Given the description of an element on the screen output the (x, y) to click on. 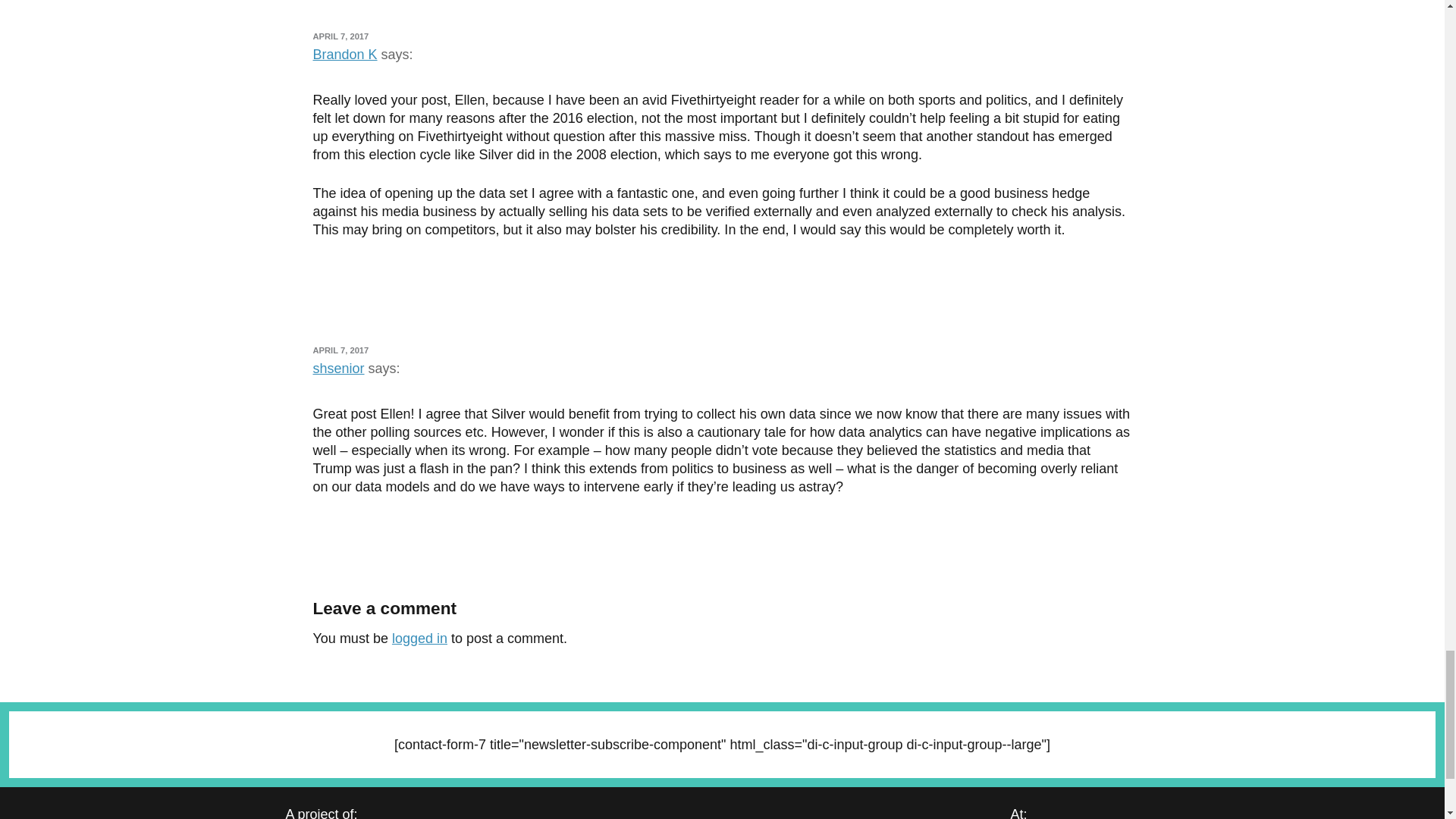
Brandon K (345, 54)
shsenior (338, 368)
logged in (418, 638)
